Given the description of an element on the screen output the (x, y) to click on. 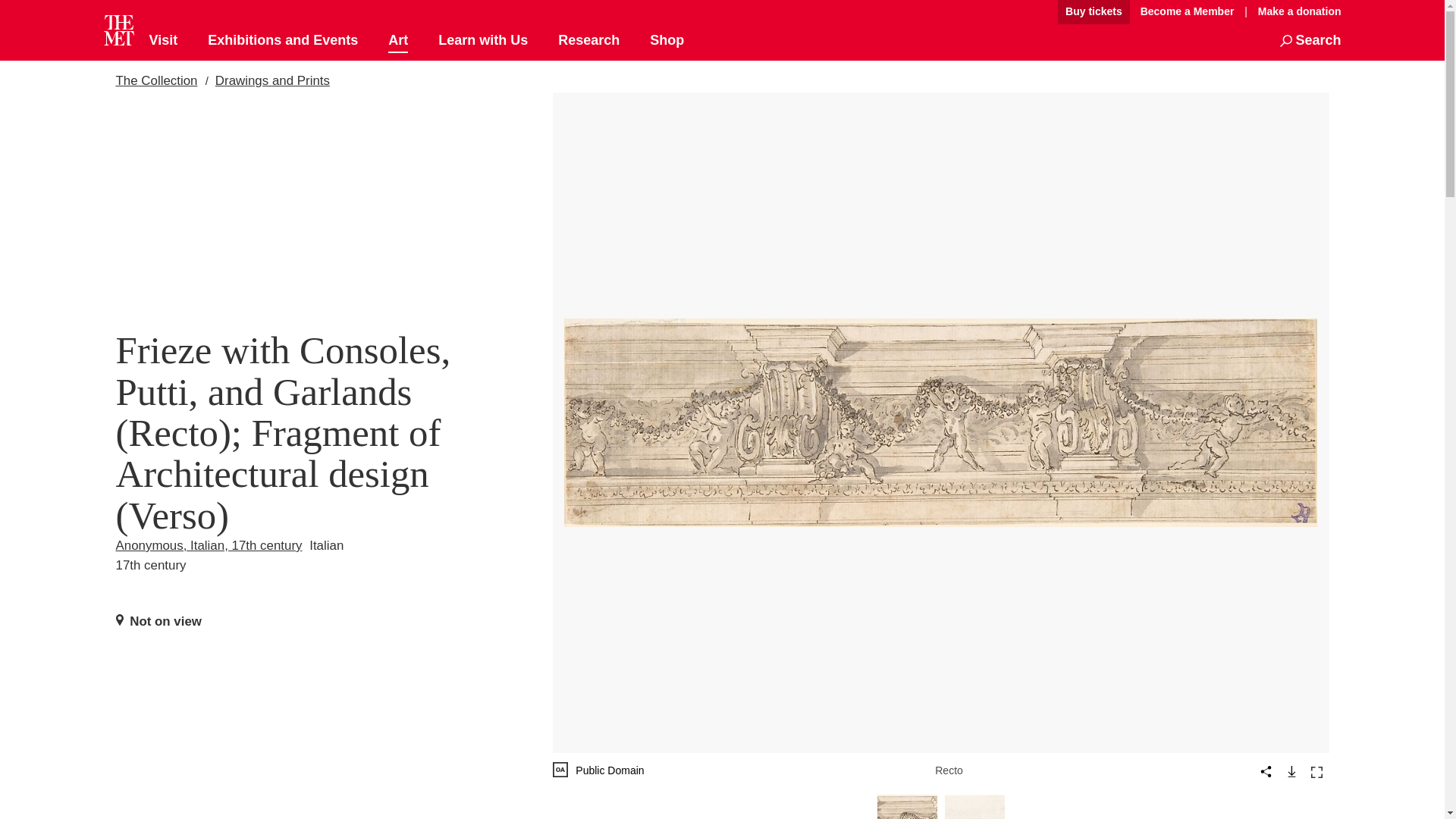
Jump to content (1005, 12)
Download (1291, 770)
The Collection (155, 80)
tickets (1093, 12)
Learn with Us (482, 41)
Enlarge image (1315, 771)
Search (1309, 41)
Search Button (1309, 41)
Visit (162, 41)
Verso (974, 806)
Member (1186, 12)
Recto (907, 806)
Shop (666, 41)
Exhibitions and Events (283, 41)
Research (588, 41)
